Given the description of an element on the screen output the (x, y) to click on. 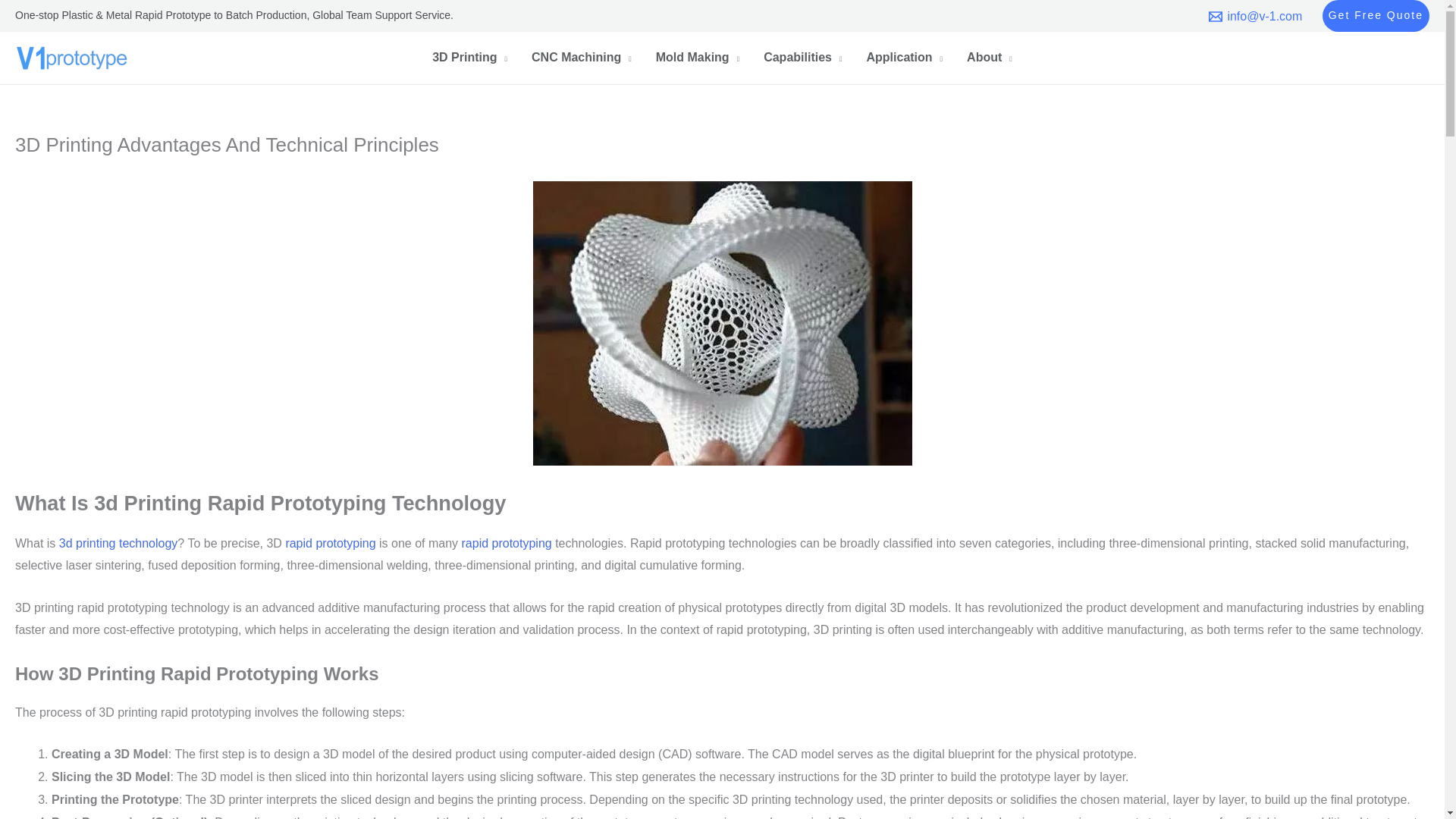
rapid prototyping service (506, 543)
Capabilities (802, 58)
Mold Making (697, 58)
Application (904, 58)
Get Free Quote (1375, 15)
rapid prototyping service (330, 543)
3D Printing Services (118, 543)
CNC Machining (581, 58)
3D Printing (469, 58)
